Given the description of an element on the screen output the (x, y) to click on. 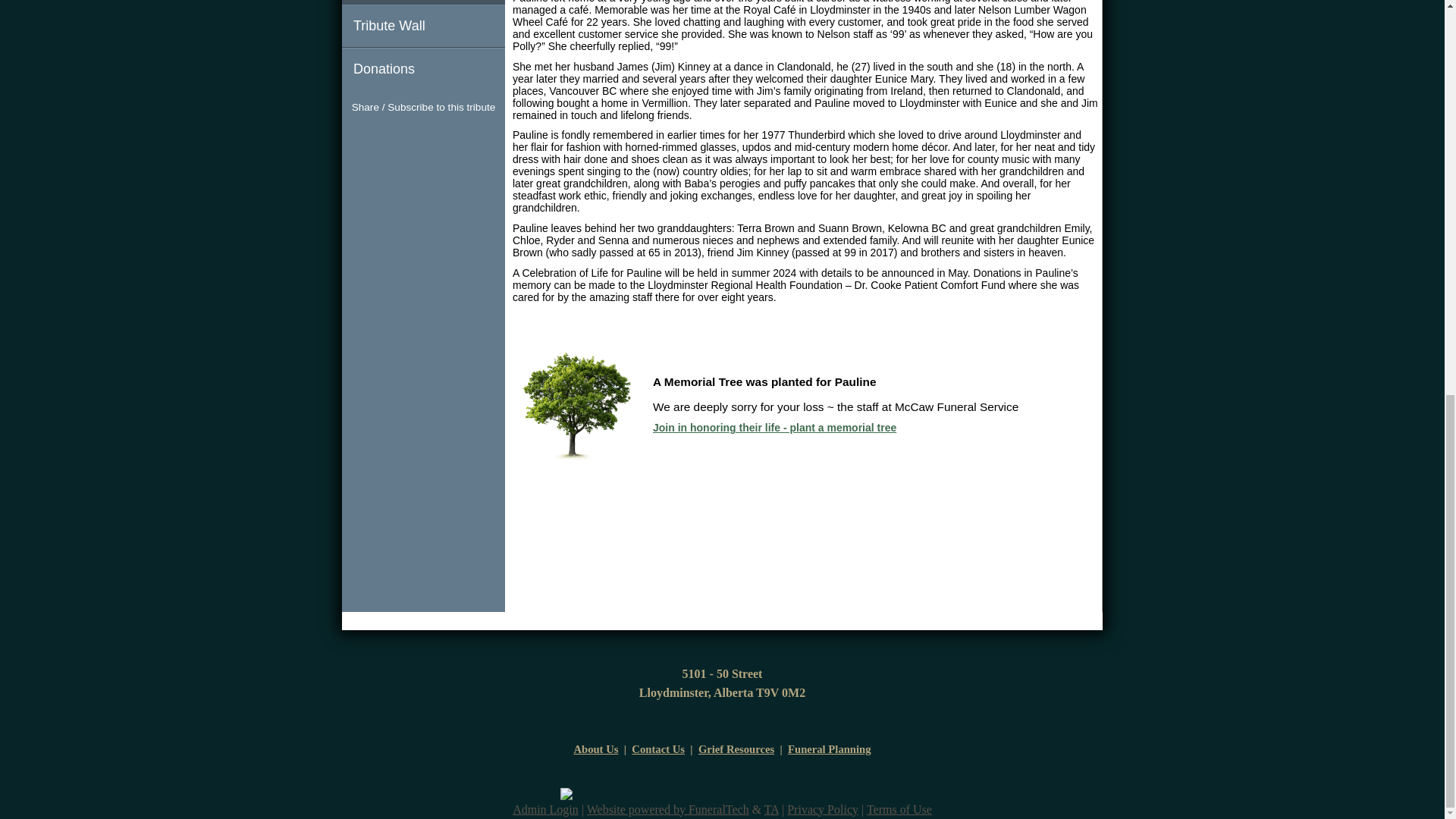
Twitter (422, 136)
Facebook (395, 136)
Receive Notifications (451, 136)
